Given the description of an element on the screen output the (x, y) to click on. 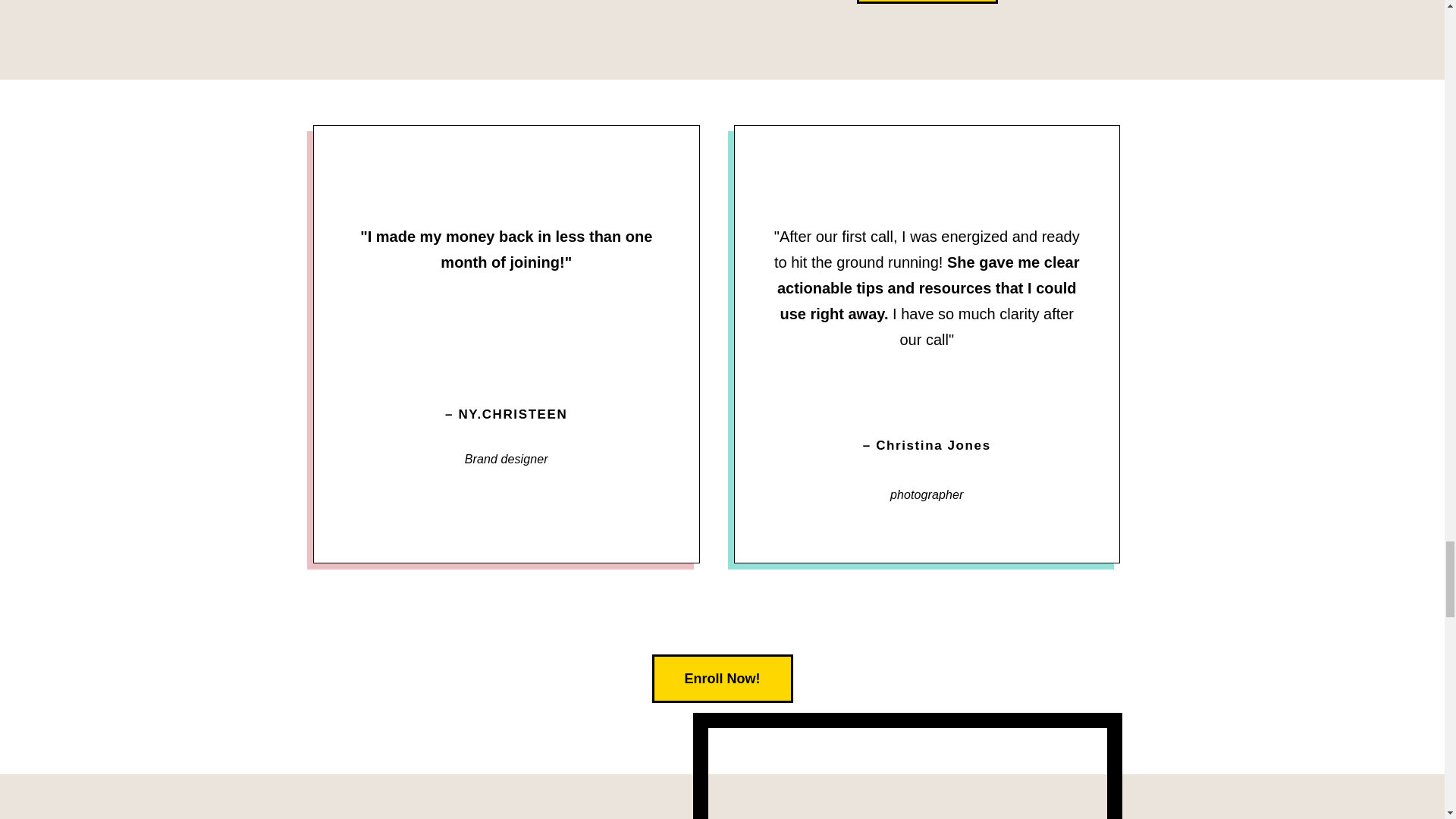
christina.png (927, 393)
Enroll Now! (927, 2)
Screenshot-2021-04-29-at-10.08.24-AM-1.png (506, 331)
Enroll Now! (722, 678)
